Given the description of an element on the screen output the (x, y) to click on. 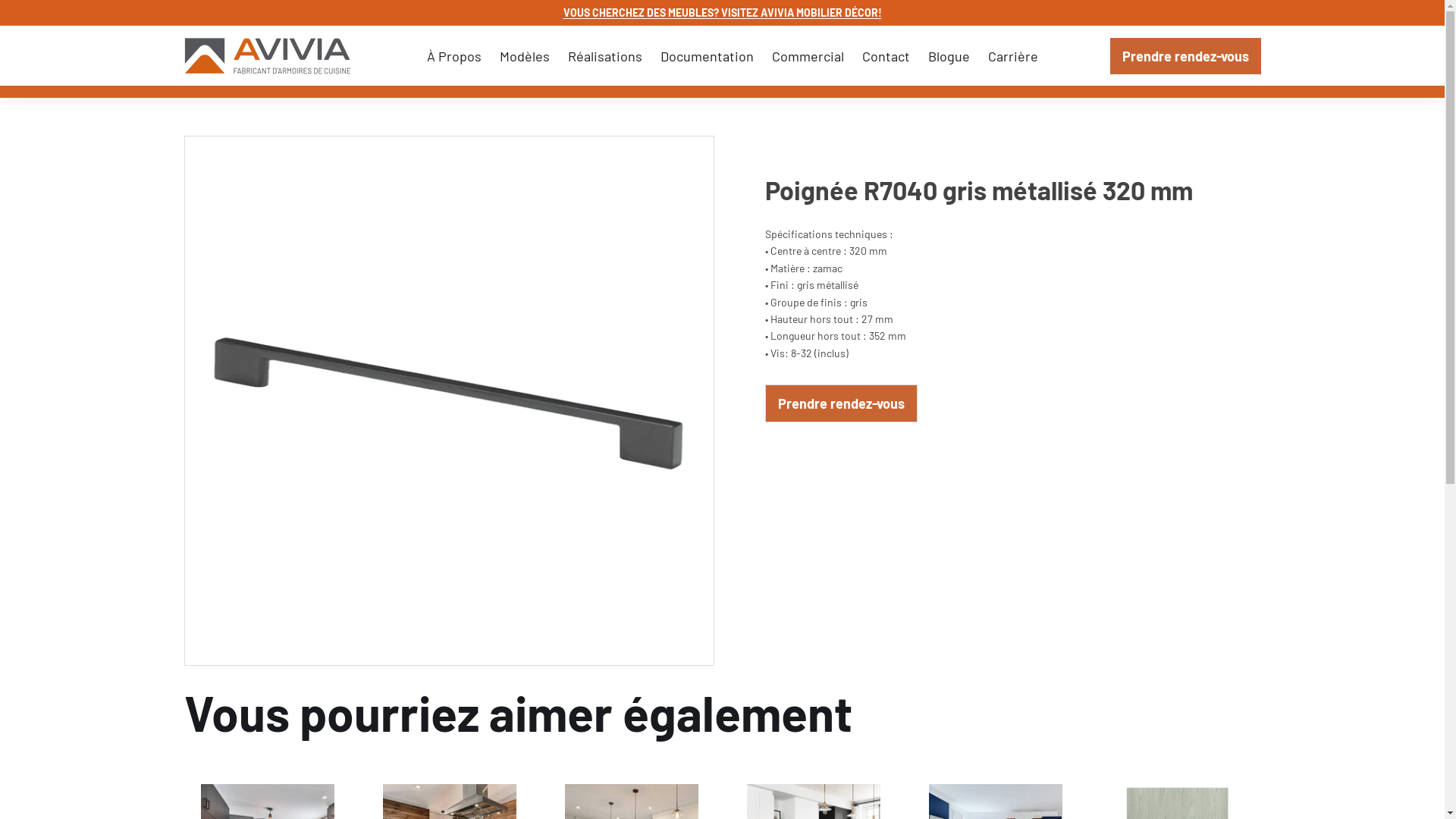
Commercial Element type: text (807, 55)
Passer au contenu Element type: text (0, 0)
Documentation Element type: text (706, 55)
Contact Element type: text (886, 55)
Prendre rendez-vous Element type: text (1185, 55)
Blogue Element type: text (948, 55)
